Given the description of an element on the screen output the (x, y) to click on. 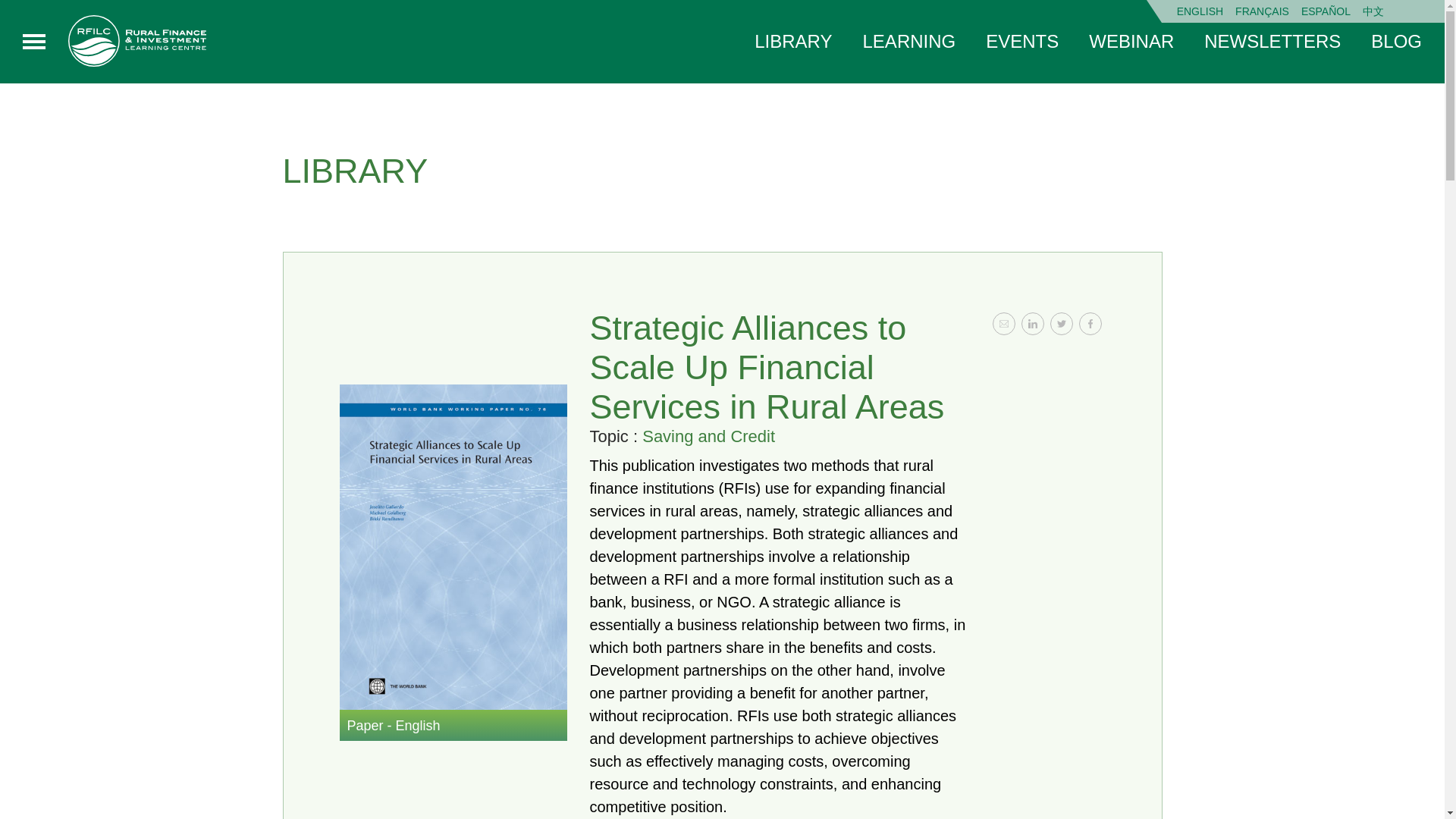
ENGLISH (1199, 10)
LIBRARY (792, 41)
BLOG (1396, 41)
Saving and Credit (708, 435)
EVENTS (1021, 41)
Paper - English (453, 726)
LEARNING (909, 41)
WEBINAR (1131, 41)
NEWSLETTERS (1272, 41)
